Given the description of an element on the screen output the (x, y) to click on. 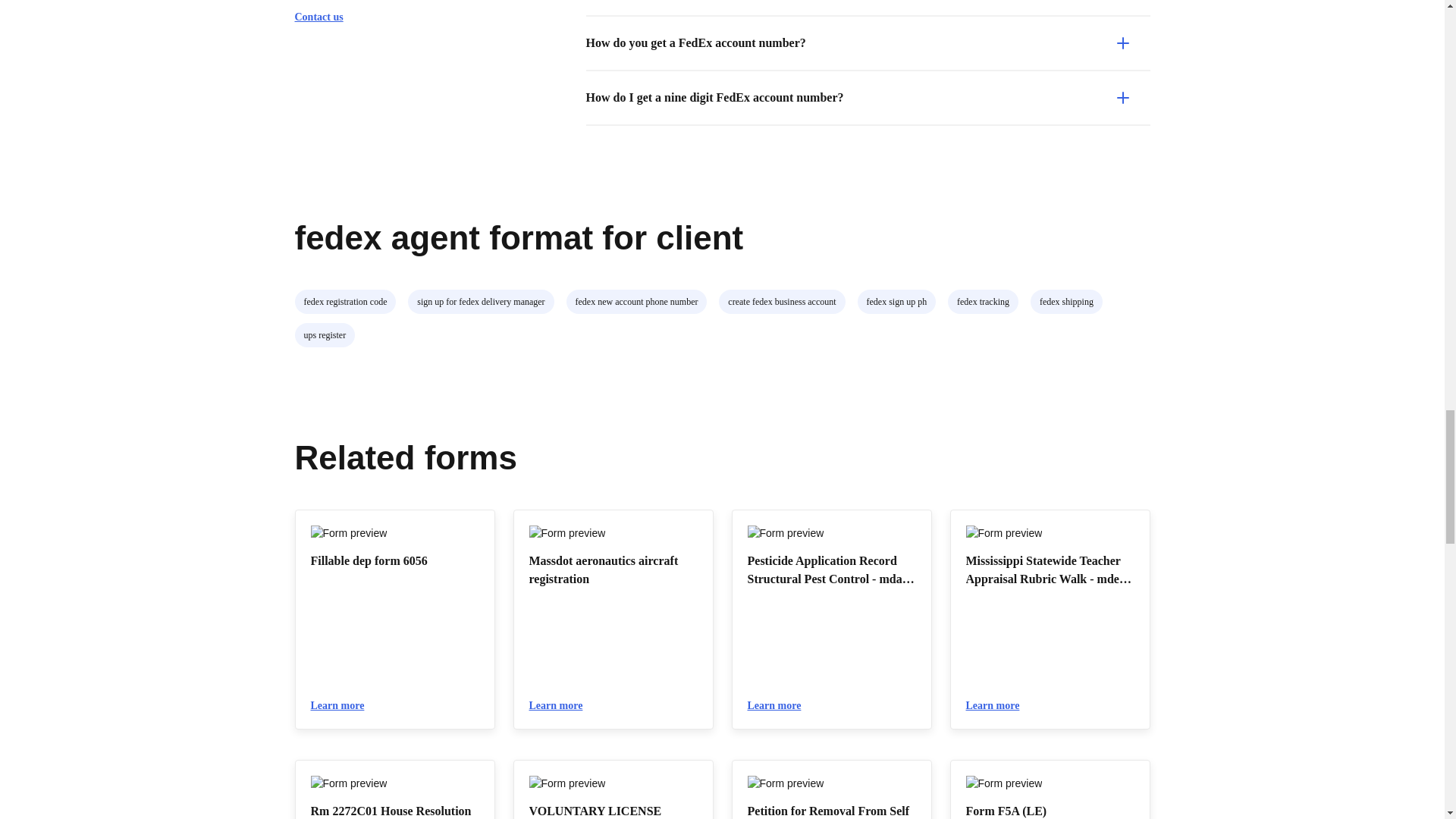
Learn more (344, 705)
Learn more (781, 705)
Contact us (325, 17)
Learn more (999, 705)
Learn more (562, 705)
